Given the description of an element on the screen output the (x, y) to click on. 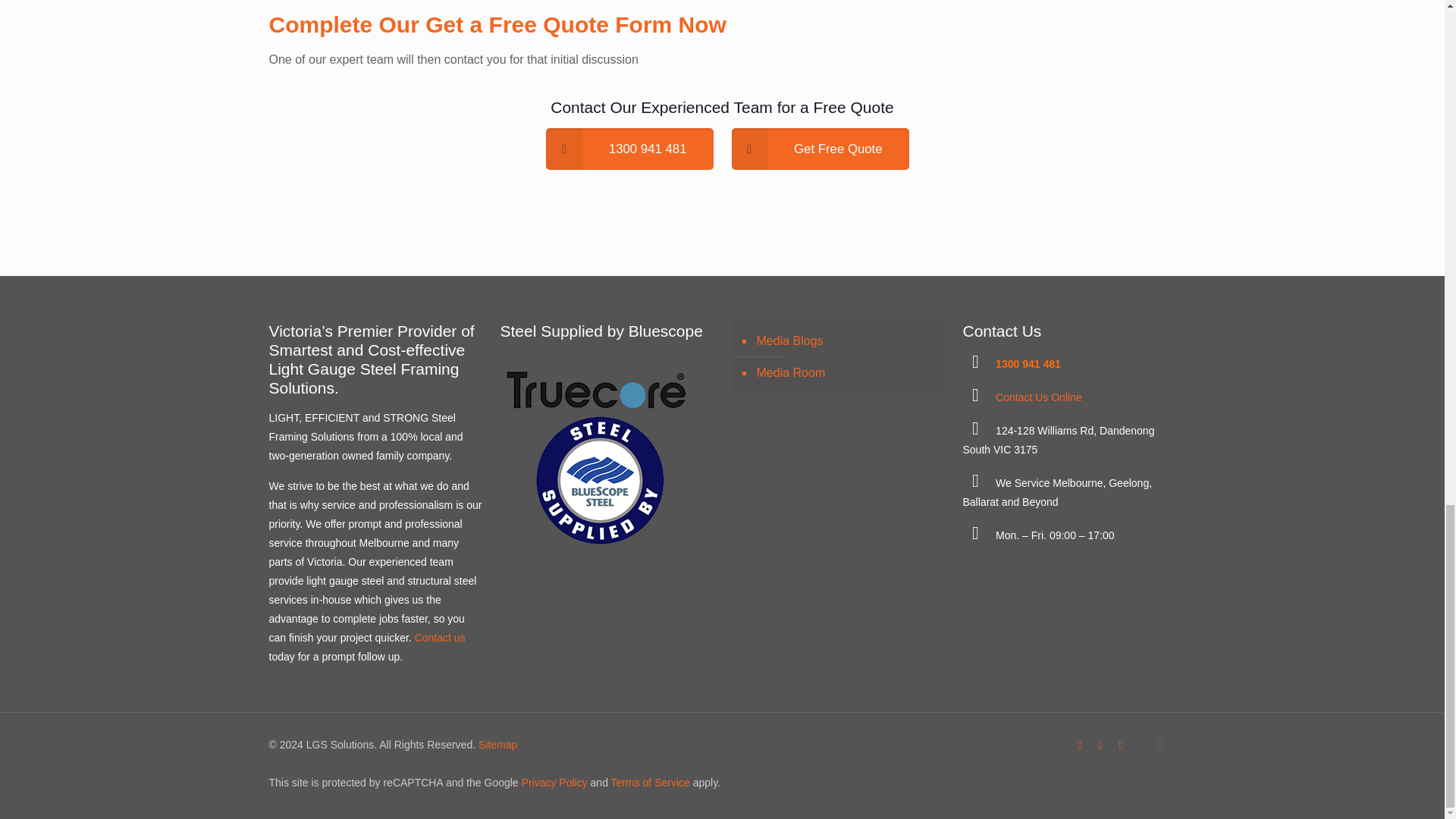
Get Free Quote (819, 148)
1300 941 481 (629, 148)
Media Room (845, 373)
1300 941 481 (1028, 363)
Contact us (439, 637)
Media Blogs (845, 341)
Contact Us Online (1038, 397)
